Given the description of an element on the screen output the (x, y) to click on. 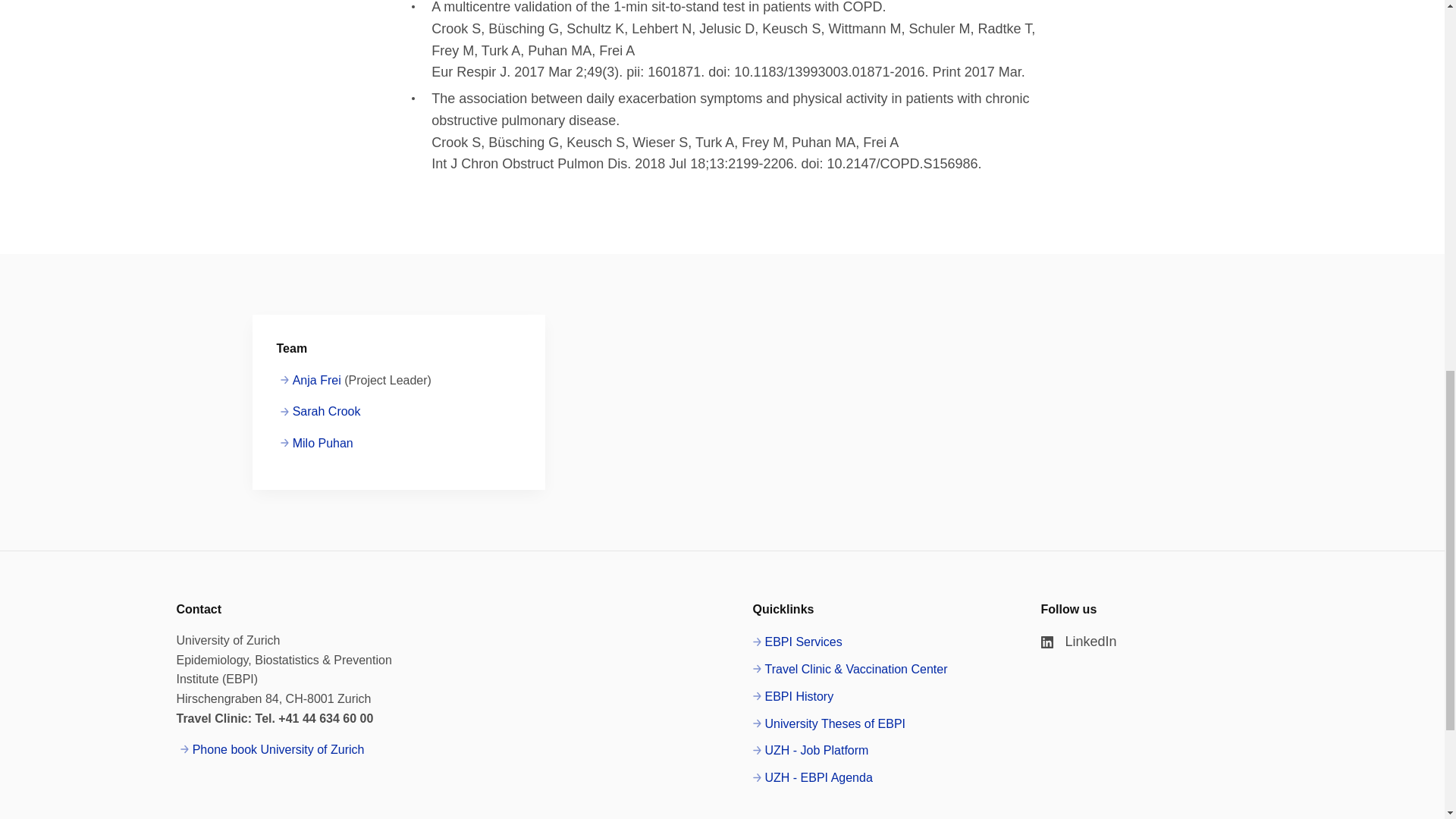
UZH - EBPI Agenda (812, 777)
University Theses of EBPI (828, 723)
UZH - Job Platform (809, 750)
EBPI Services (796, 641)
EBPI History (792, 696)
